Given the description of an element on the screen output the (x, y) to click on. 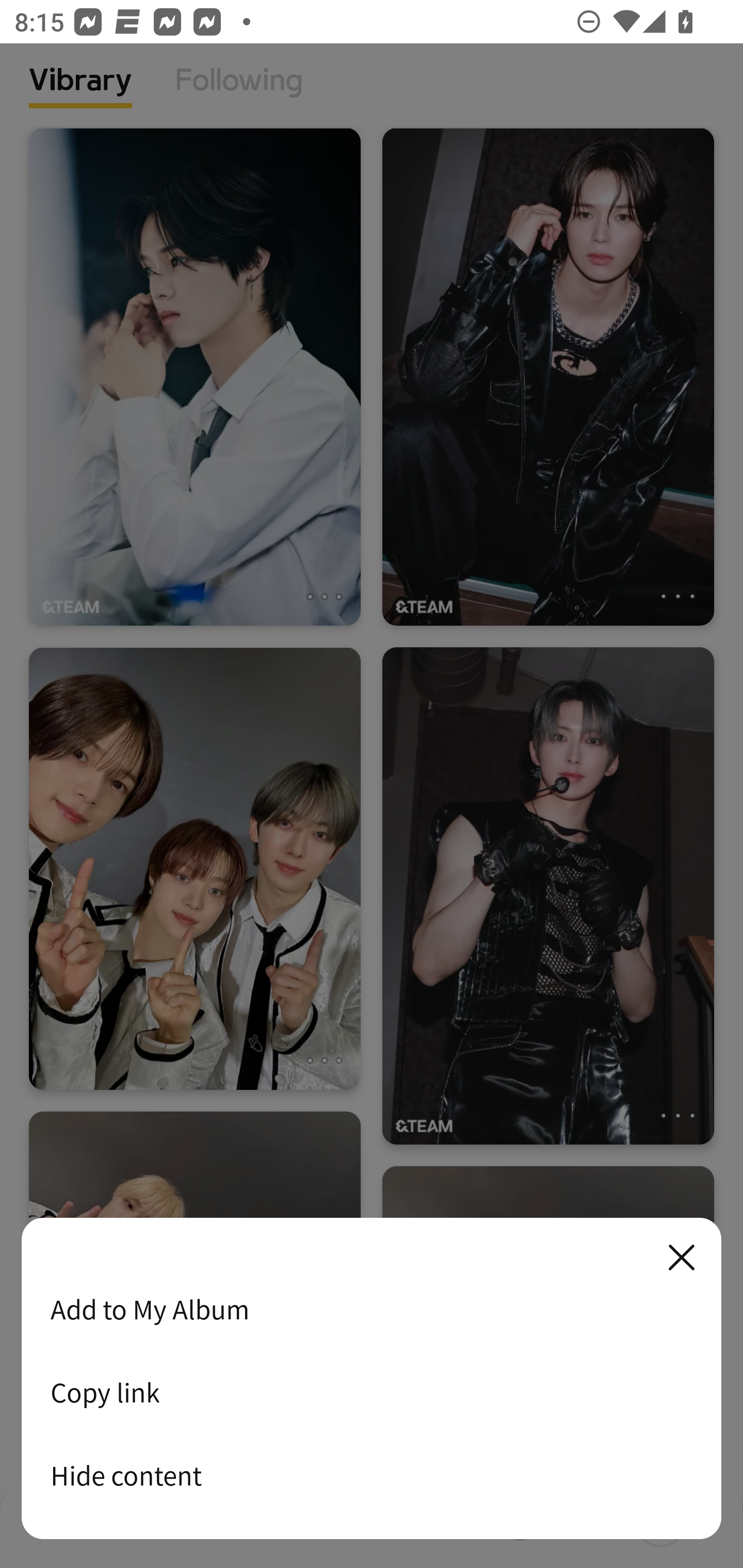
Add to My Album Copy link Hide content (371, 1378)
Add to My Album (371, 1308)
Copy link (371, 1391)
Hide content (371, 1474)
